Given the description of an element on the screen output the (x, y) to click on. 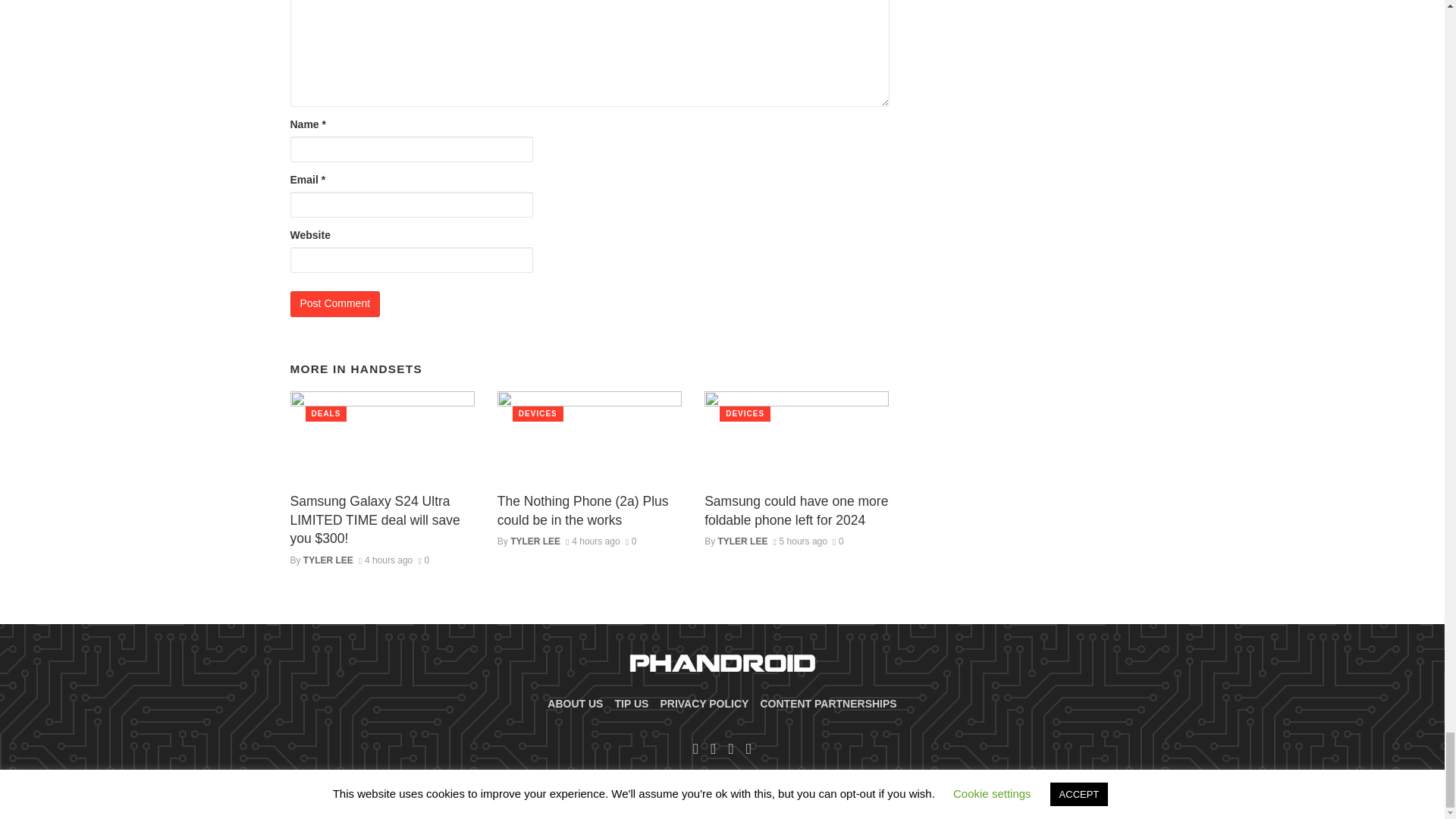
Post Comment (334, 303)
